Given the description of an element on the screen output the (x, y) to click on. 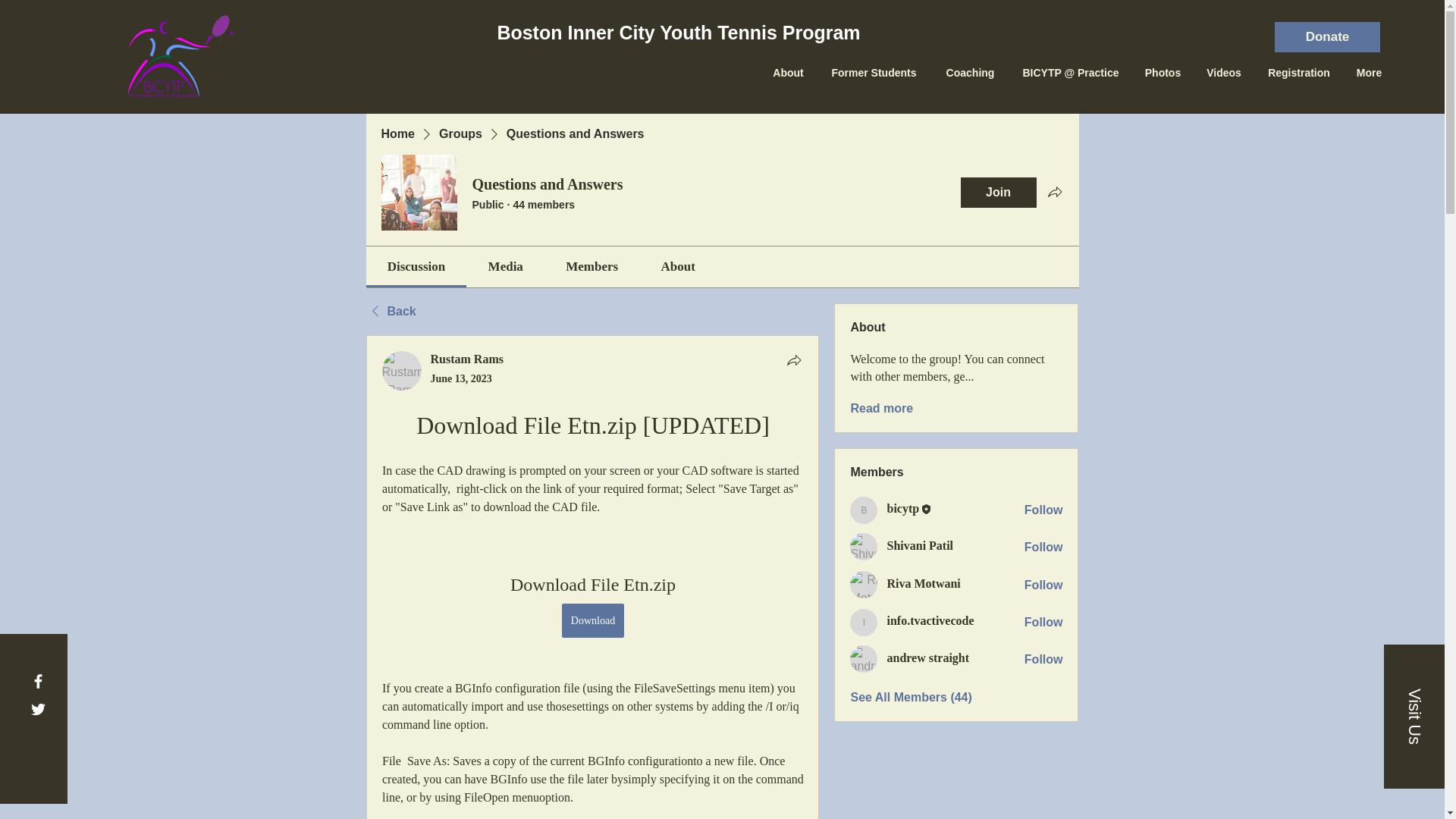
Groups (460, 134)
bicytp (902, 508)
Photos (1162, 72)
Riva Motwani (863, 584)
Former Students (873, 72)
Videos (1223, 72)
Follow (1043, 585)
info.tvactivecode (863, 622)
About (788, 72)
Rustam Rams (401, 370)
Read more (881, 408)
Home (396, 134)
Follow (1043, 622)
Follow (1043, 510)
Shivani Patil (863, 546)
